Given the description of an element on the screen output the (x, y) to click on. 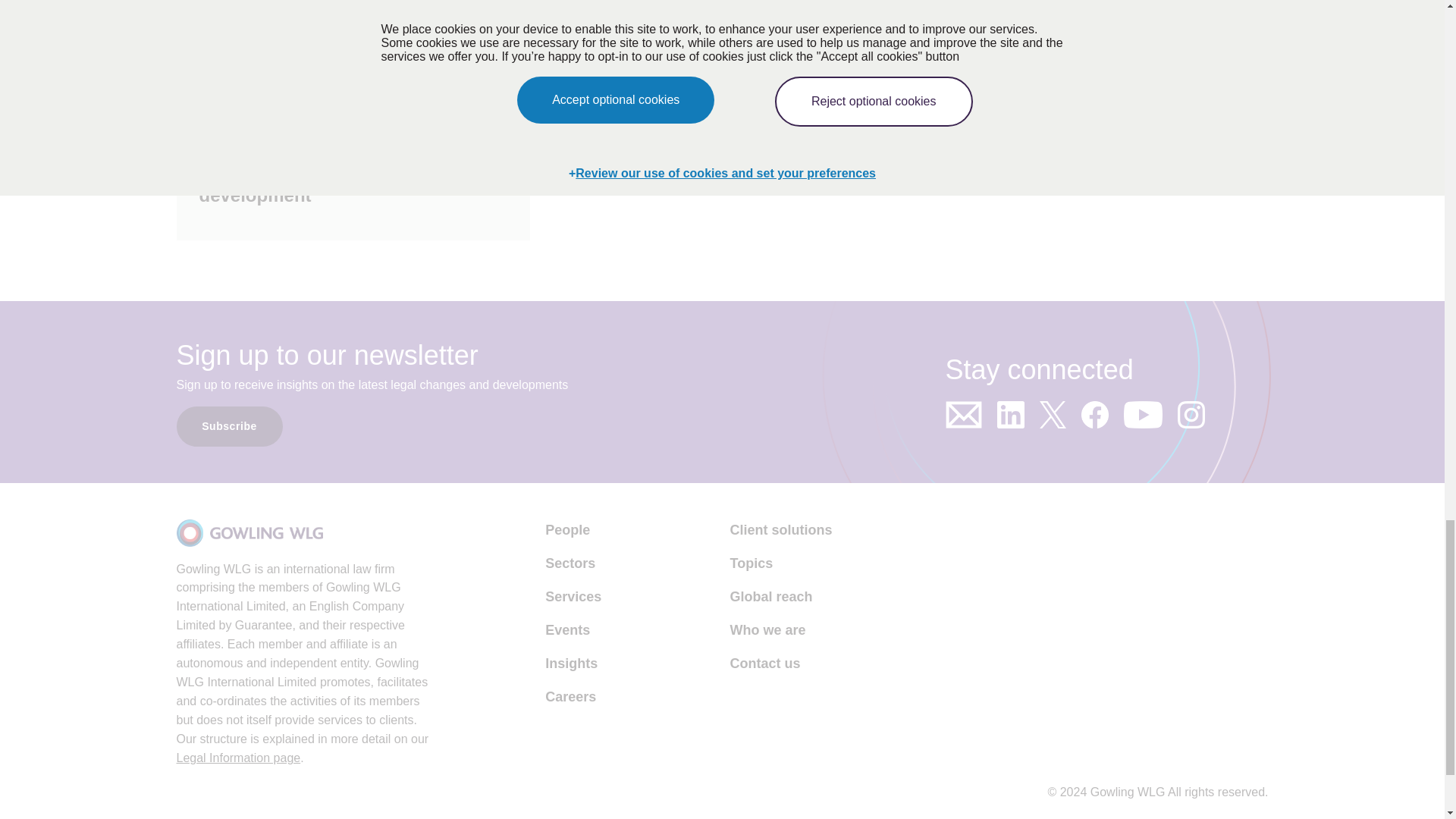
Subscribe (229, 426)
Legal Information page (237, 757)
